Given the description of an element on the screen output the (x, y) to click on. 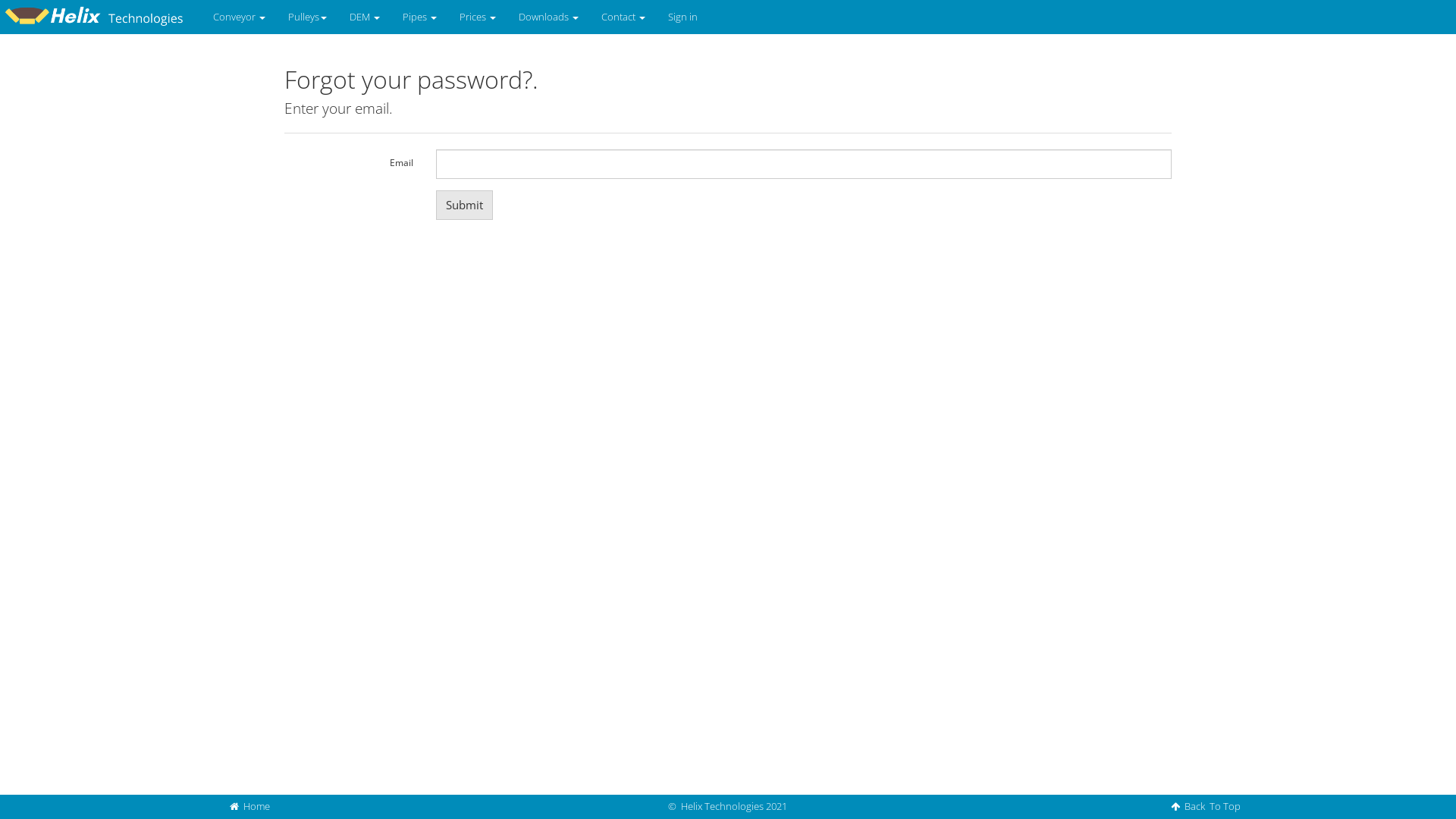
Conveyor  Element type: text (238, 17)
Contact  Element type: text (622, 17)
Pipes  Element type: text (419, 17)
Submit Element type: text (464, 204)
Pulleys Element type: text (307, 17)
DEM  Element type: text (364, 17)
Sign in Element type: text (682, 17)
  Back  To Top Element type: text (1205, 805)
Downloads  Element type: text (548, 17)
  Home Element type: text (249, 805)
Prices  Element type: text (477, 17)
